Given the description of an element on the screen output the (x, y) to click on. 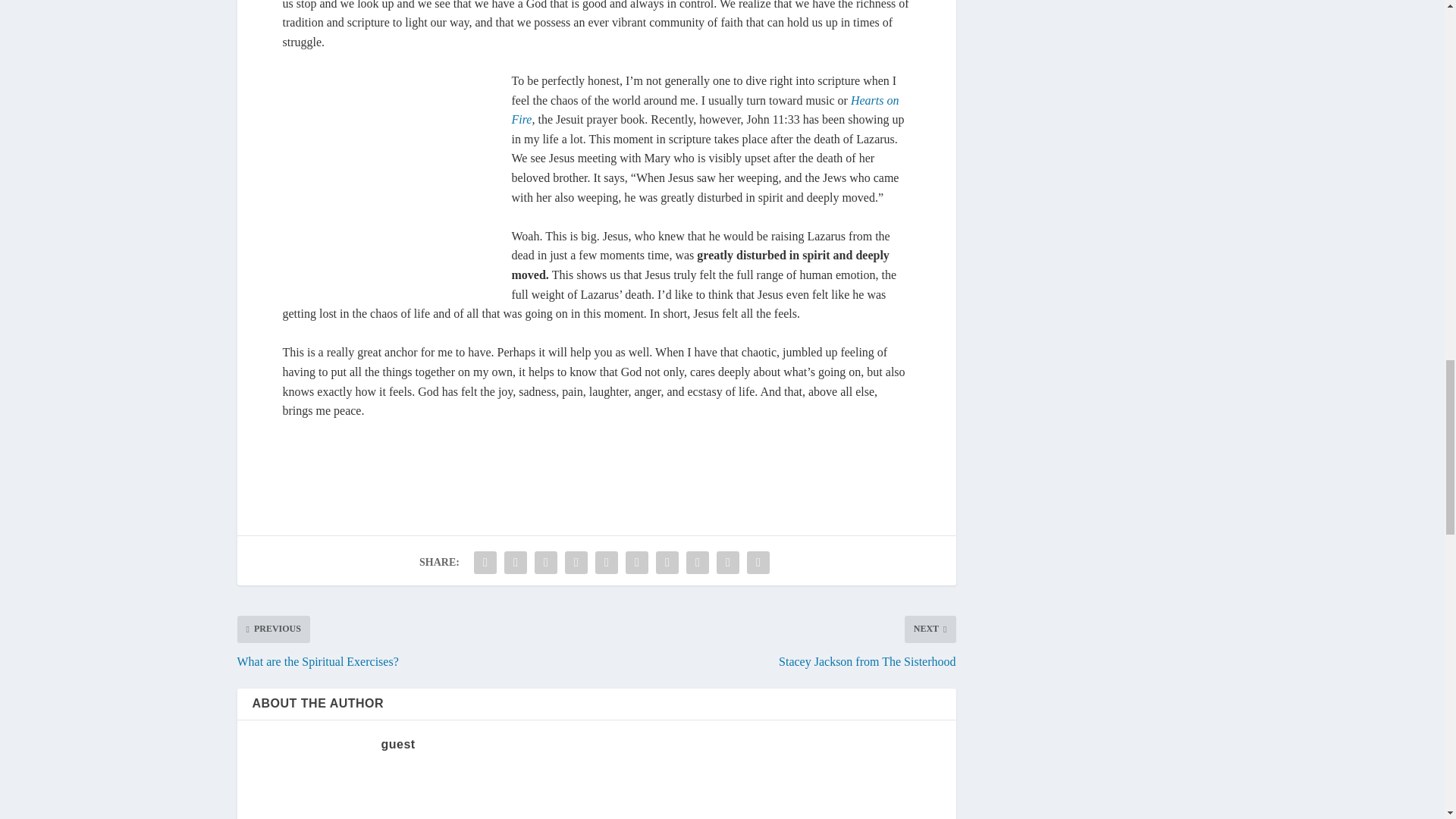
Share "Some Assembly Required" via Facebook (485, 562)
Share "Some Assembly Required" via Pinterest (606, 562)
Share "Some Assembly Required" via Buffer (667, 562)
Share "Some Assembly Required" via Print (757, 562)
Share "Some Assembly Required" via Tumblr (575, 562)
Share "Some Assembly Required" via Twitter (515, 562)
View all posts by guest (397, 744)
Share "Some Assembly Required" via Email (727, 562)
Share "Some Assembly Required" via LinkedIn (636, 562)
Share "Some Assembly Required" via Stumbleupon (697, 562)
